Given the description of an element on the screen output the (x, y) to click on. 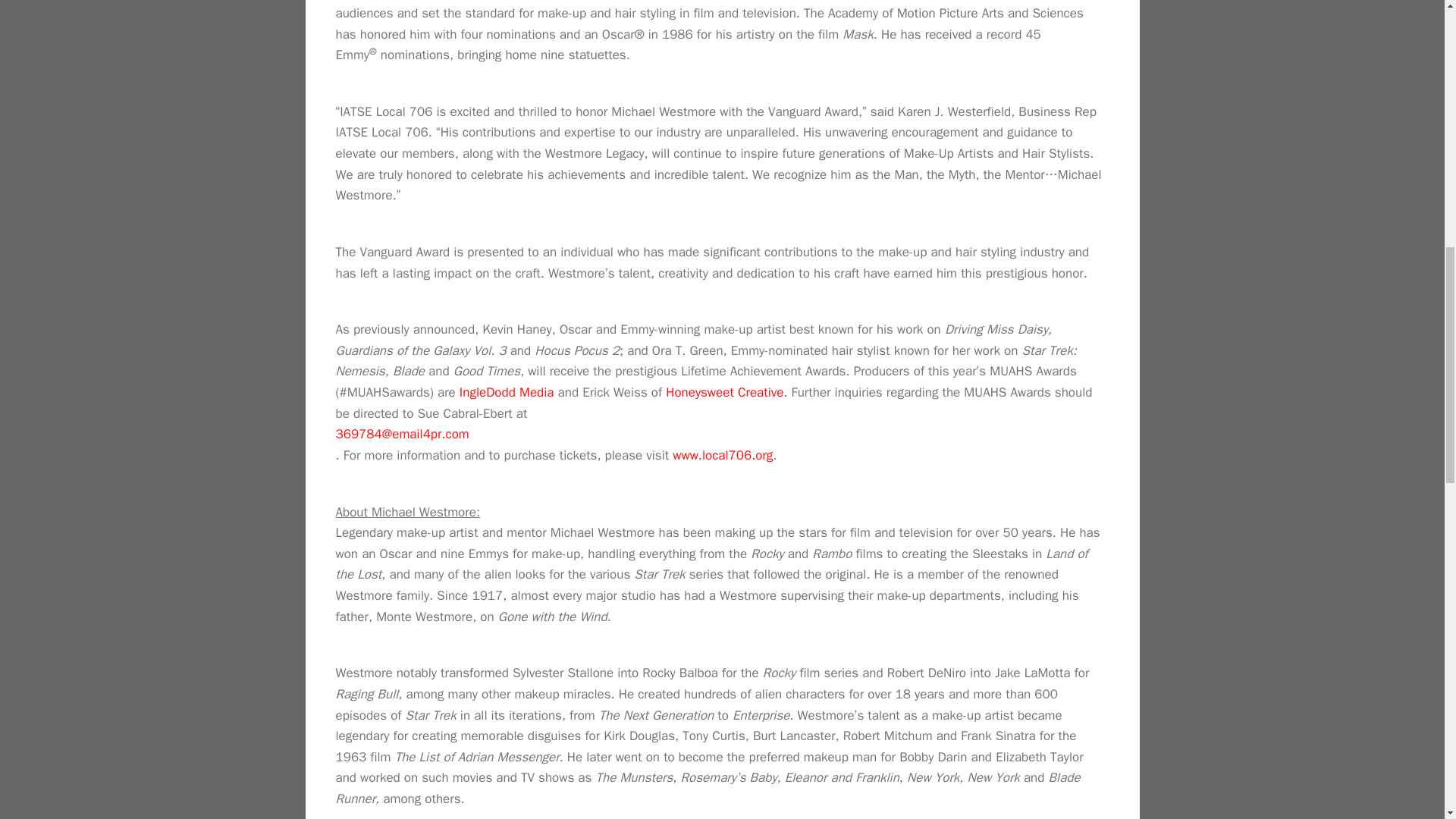
www.local706.org (722, 455)
IngleDodd Media (507, 392)
Honeysweet Creative (724, 392)
